Given the description of an element on the screen output the (x, y) to click on. 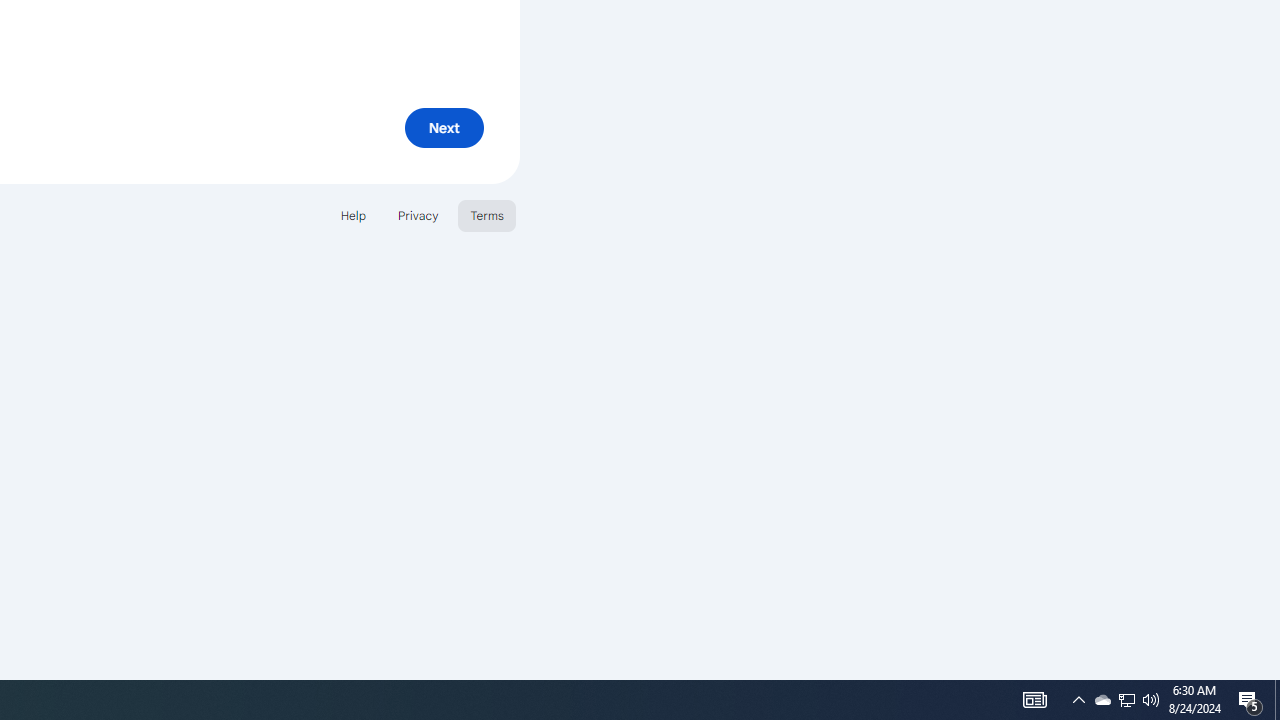
Terms (486, 214)
Next (443, 127)
Privacy (417, 214)
Help (352, 214)
